Given the description of an element on the screen output the (x, y) to click on. 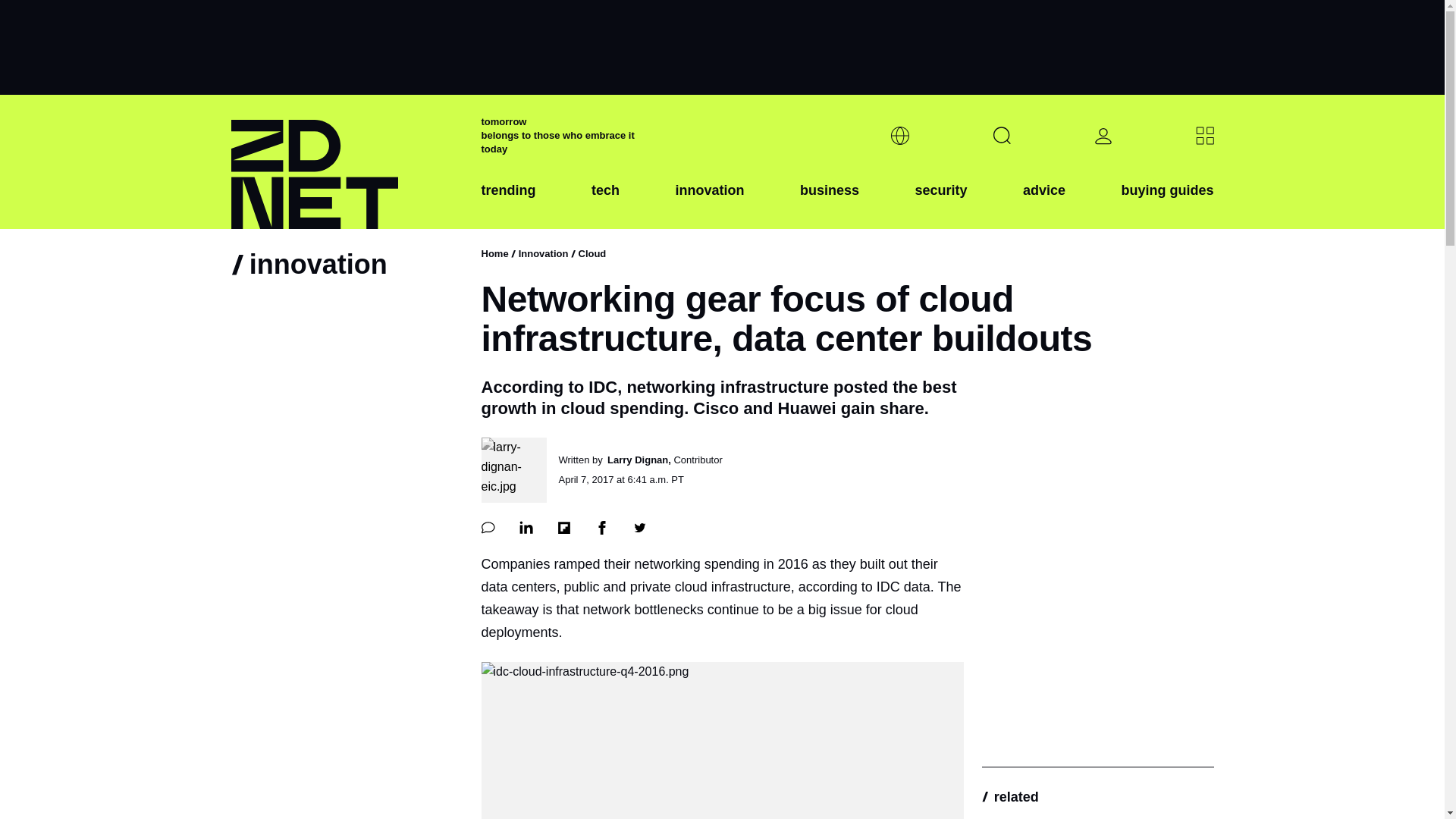
trending (507, 202)
ZDNET (346, 162)
